Given the description of an element on the screen output the (x, y) to click on. 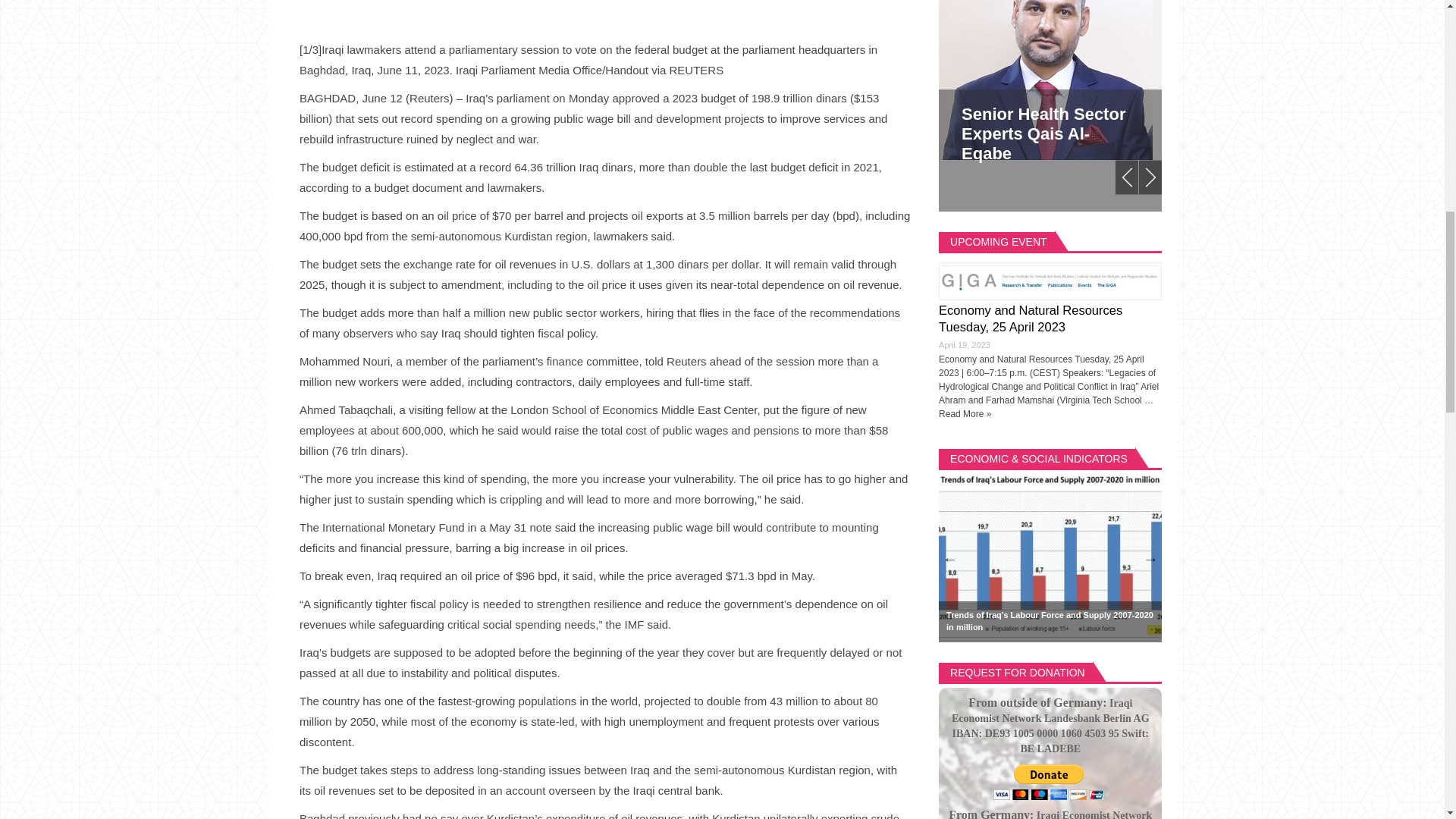
UPCOMING EVENT (998, 241)
